Given the description of an element on the screen output the (x, y) to click on. 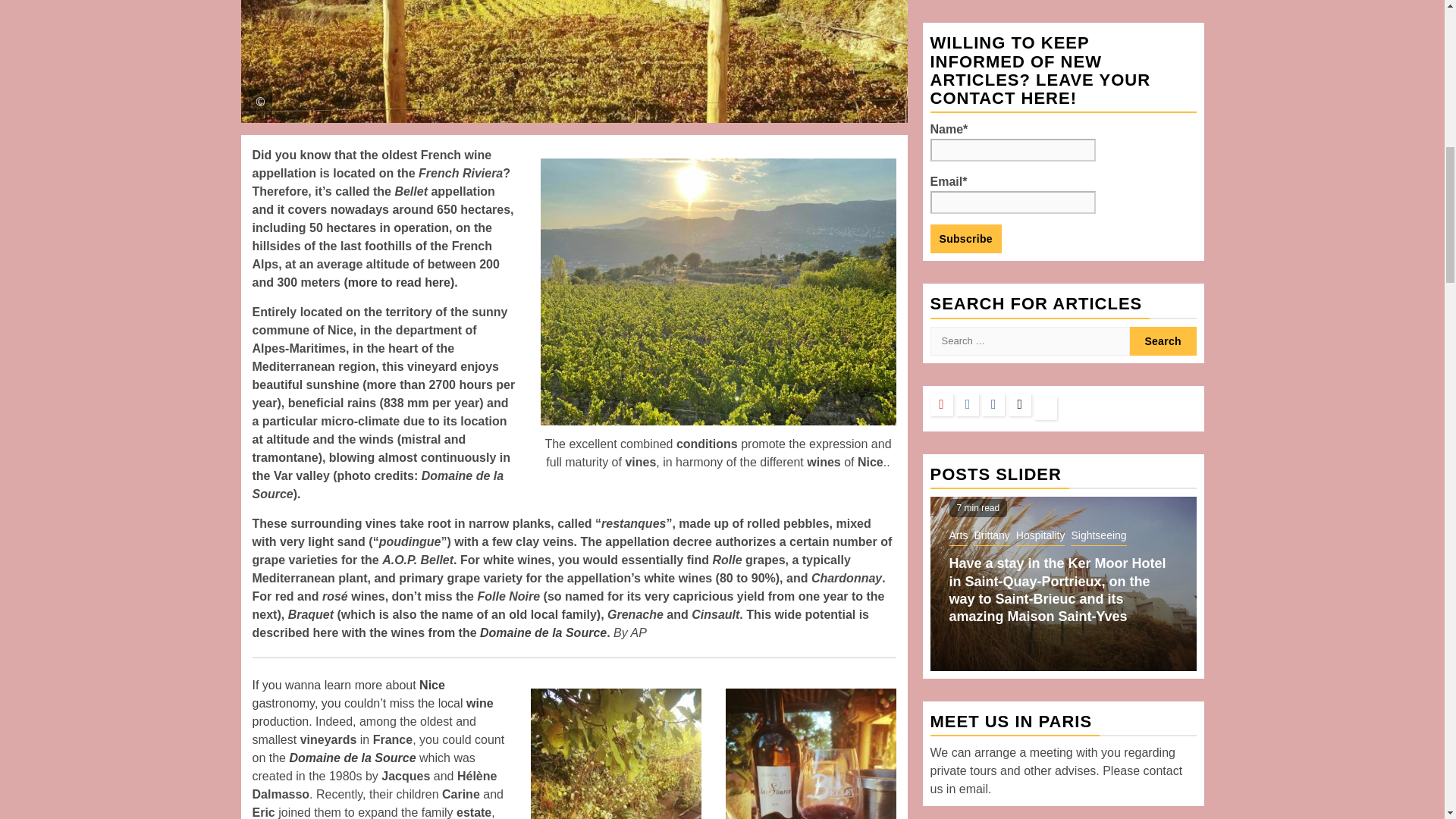
Domaine de la Source (543, 632)
Domaine de la Source (351, 757)
